Given the description of an element on the screen output the (x, y) to click on. 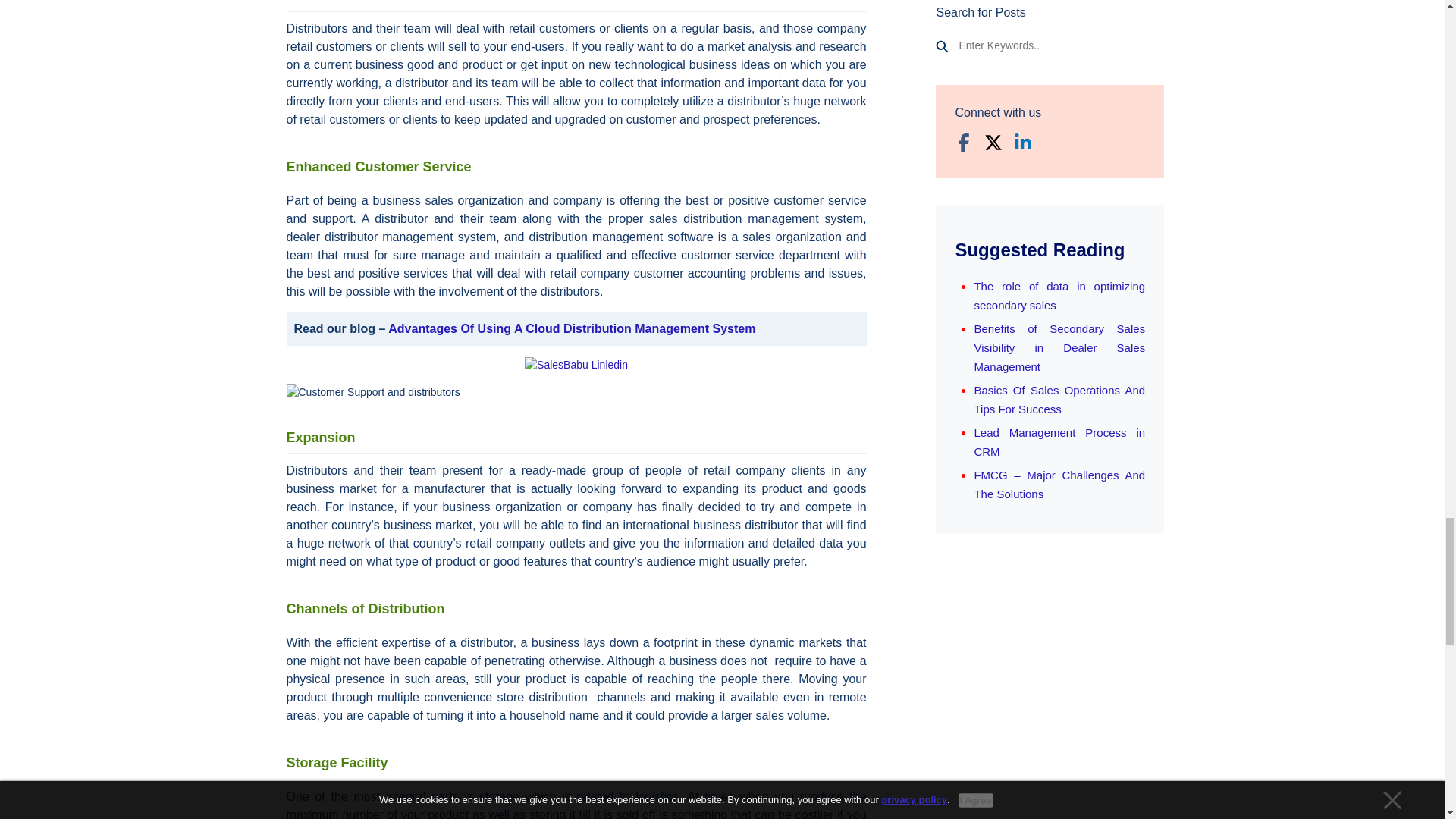
Customer Support and distributors (373, 391)
Advantages Of Using A Cloud Distribution Management System (571, 328)
